Given the description of an element on the screen output the (x, y) to click on. 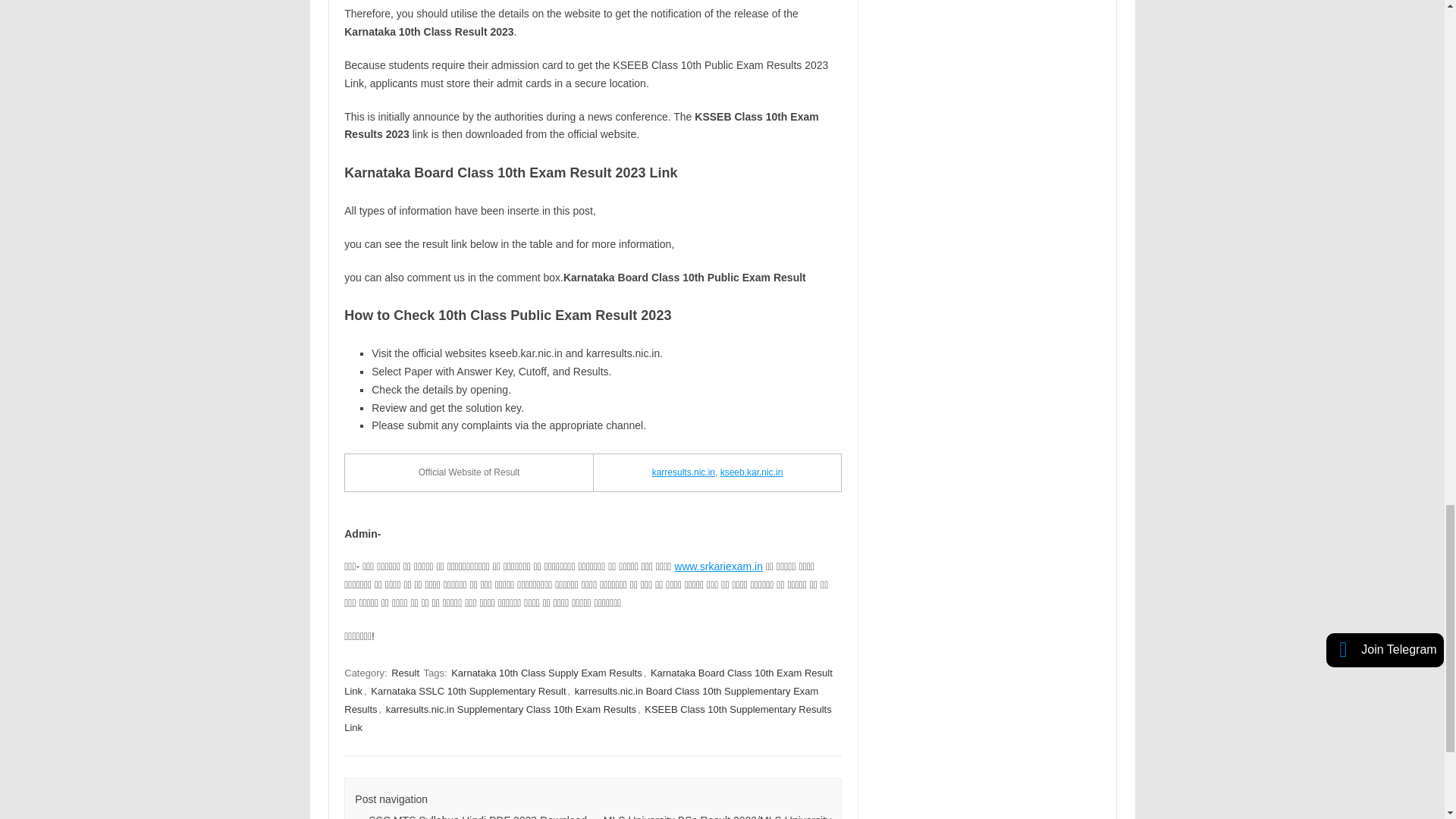
kseeb.kar.nic.in (751, 471)
Karnataka 10th Class Supply Exam Results (546, 672)
Karnataka SSLC 10th Supplementary Result (468, 690)
KSEEB Class 10th Supplementary Results Link (587, 717)
karresults.nic.in Supplementary Class 10th Exam Results (510, 708)
Result (405, 672)
Karnataka Board Class 10th Exam Result Link (587, 681)
karresults.nic.in (683, 471)
www.srkariexam.in (718, 566)
